Given the description of an element on the screen output the (x, y) to click on. 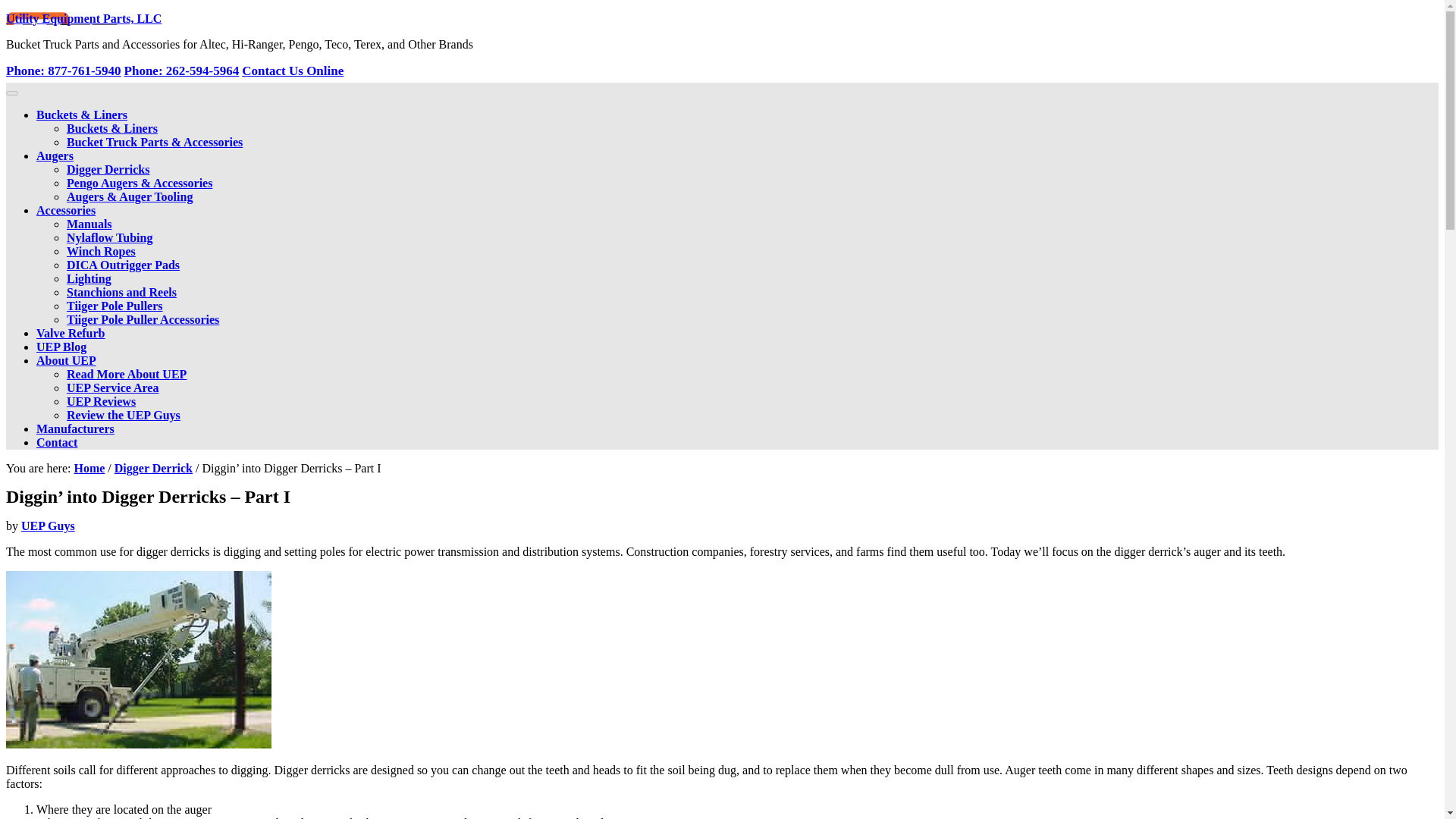
About UEP (66, 359)
Review the UEP Guys (123, 414)
Accessories (66, 210)
Digger Derricks (107, 169)
UEP Service Area (112, 387)
Lighting (89, 278)
UEP Blog (60, 346)
Valve Refurb (70, 332)
Contact (56, 441)
Phone: 877-761-5940 (62, 70)
Nylaflow Tubing (109, 237)
Augers (55, 155)
Read More About UEP (126, 373)
Winch Ropes (100, 250)
Utility Equipment Parts, LLC (83, 18)
